Given the description of an element on the screen output the (x, y) to click on. 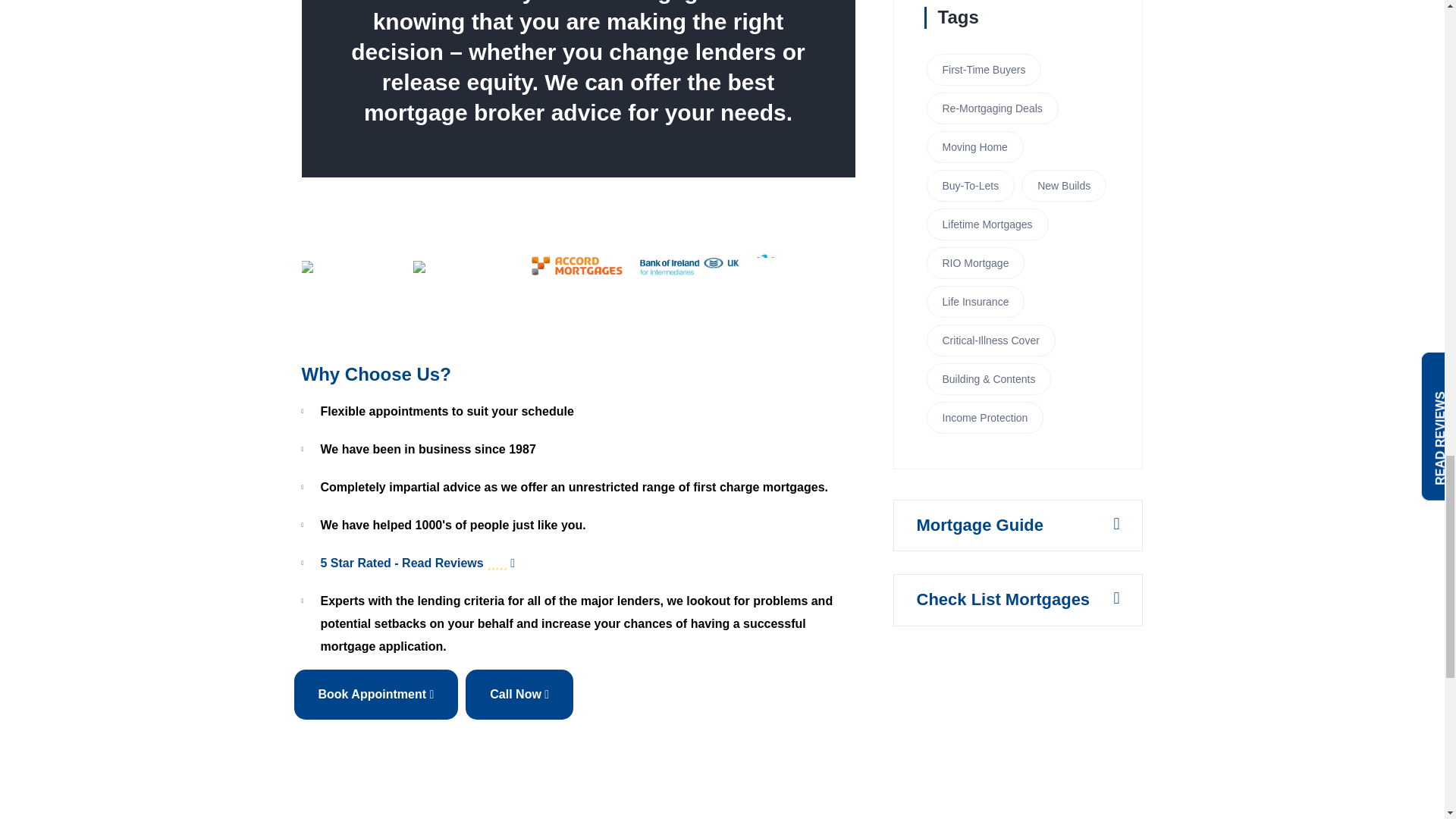
All You Need To Know (978, 524)
All You Need To Know (1002, 599)
Call Now (519, 694)
Book Instant Appointment (376, 694)
Verified Reviews From Google - Facebook (587, 563)
